Given the description of an element on the screen output the (x, y) to click on. 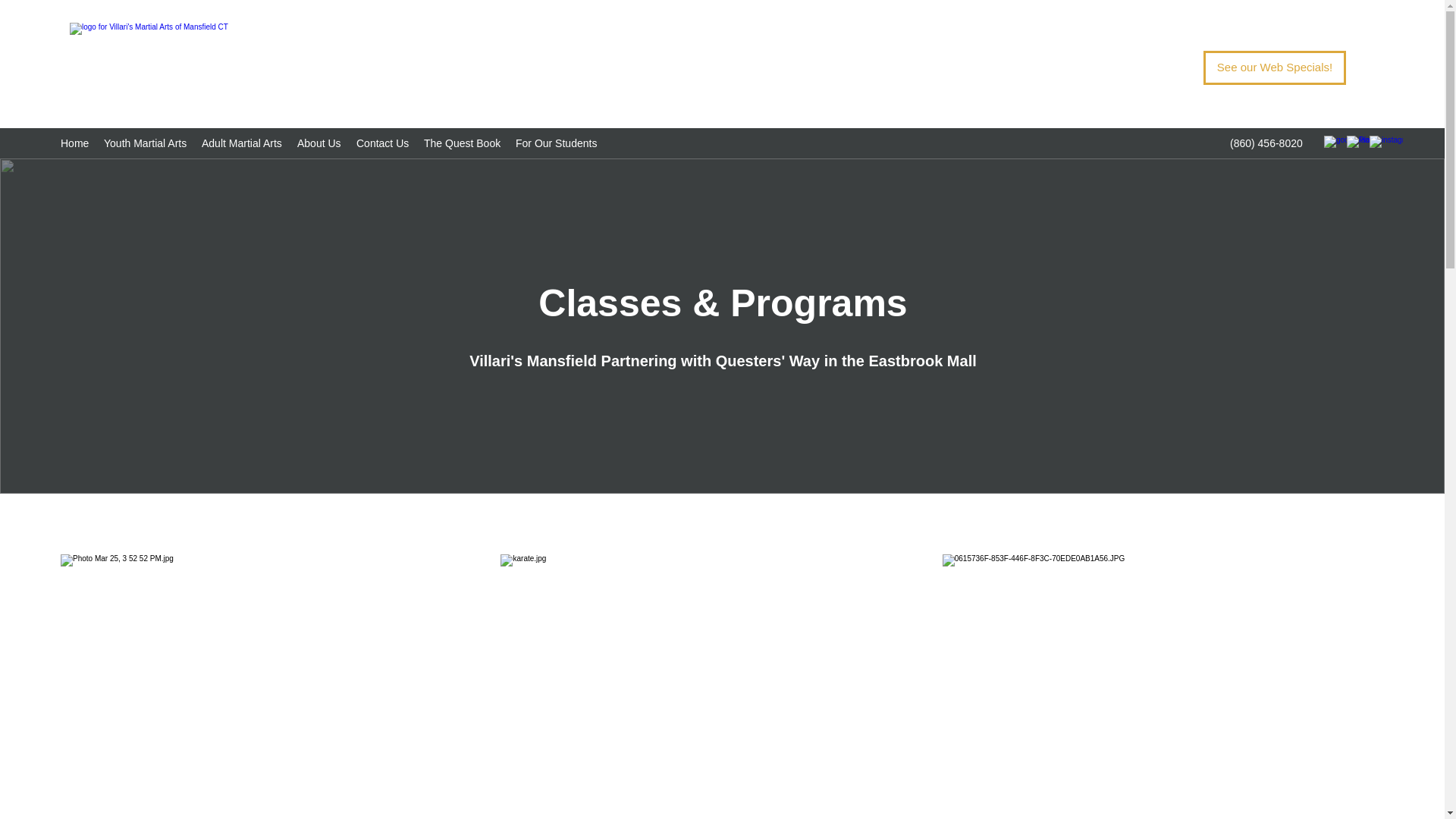
Youth Martial Arts (144, 142)
About Us (319, 142)
Contact Us (382, 142)
The Quest Book (462, 142)
Home (74, 142)
See our Web Specials! (1274, 67)
Adult Martial Arts (241, 142)
For Our Students (556, 142)
